Given the description of an element on the screen output the (x, y) to click on. 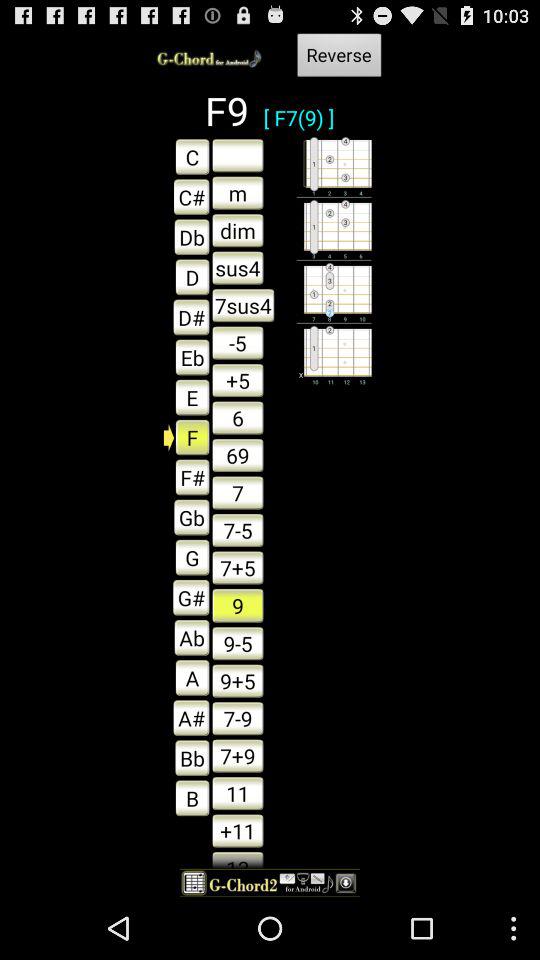
turn on item to the left of the 7-9 (186, 758)
